Given the description of an element on the screen output the (x, y) to click on. 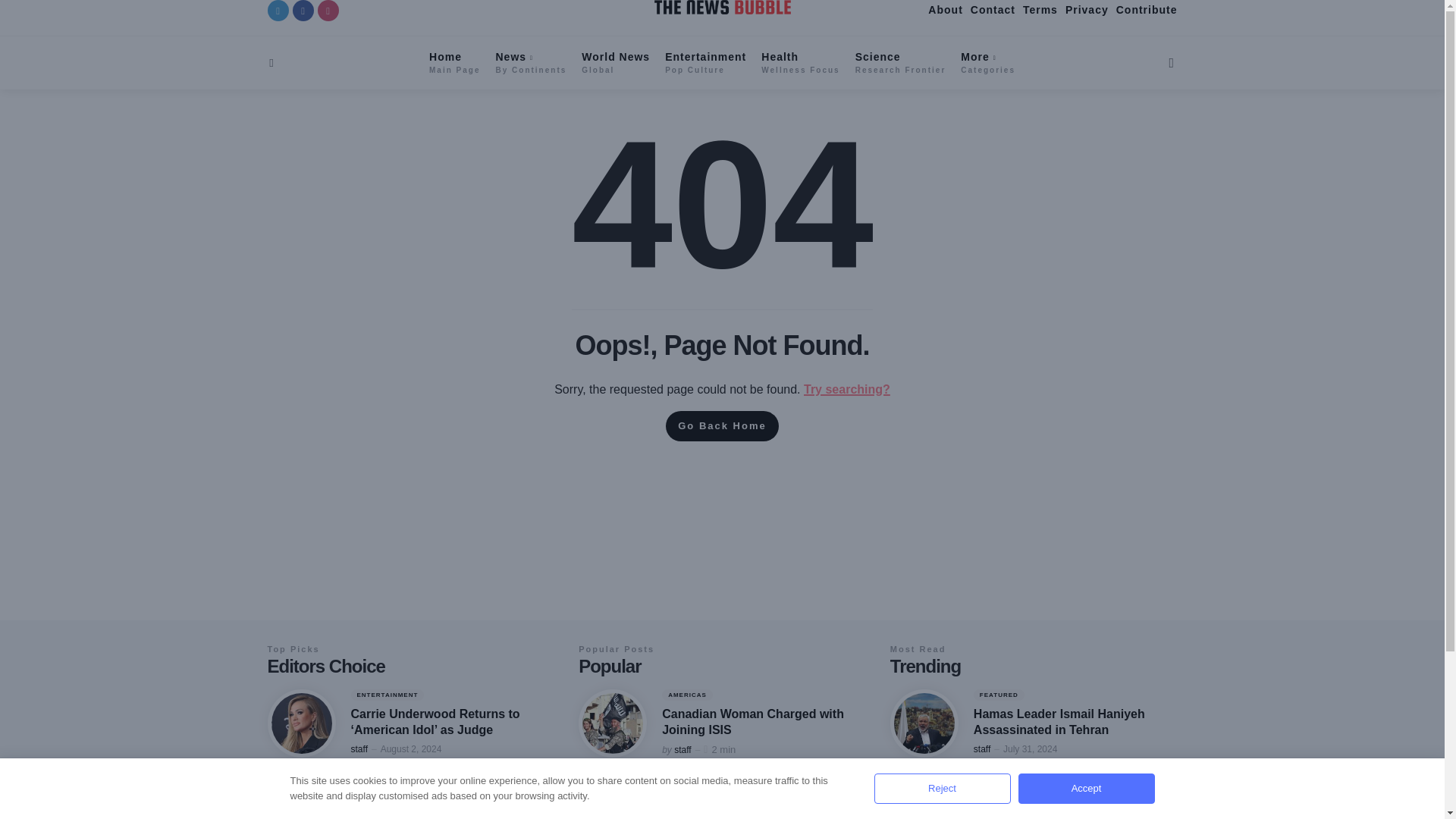
Terms (614, 62)
Contribute (987, 62)
Privacy (531, 62)
About (454, 62)
